Given the description of an element on the screen output the (x, y) to click on. 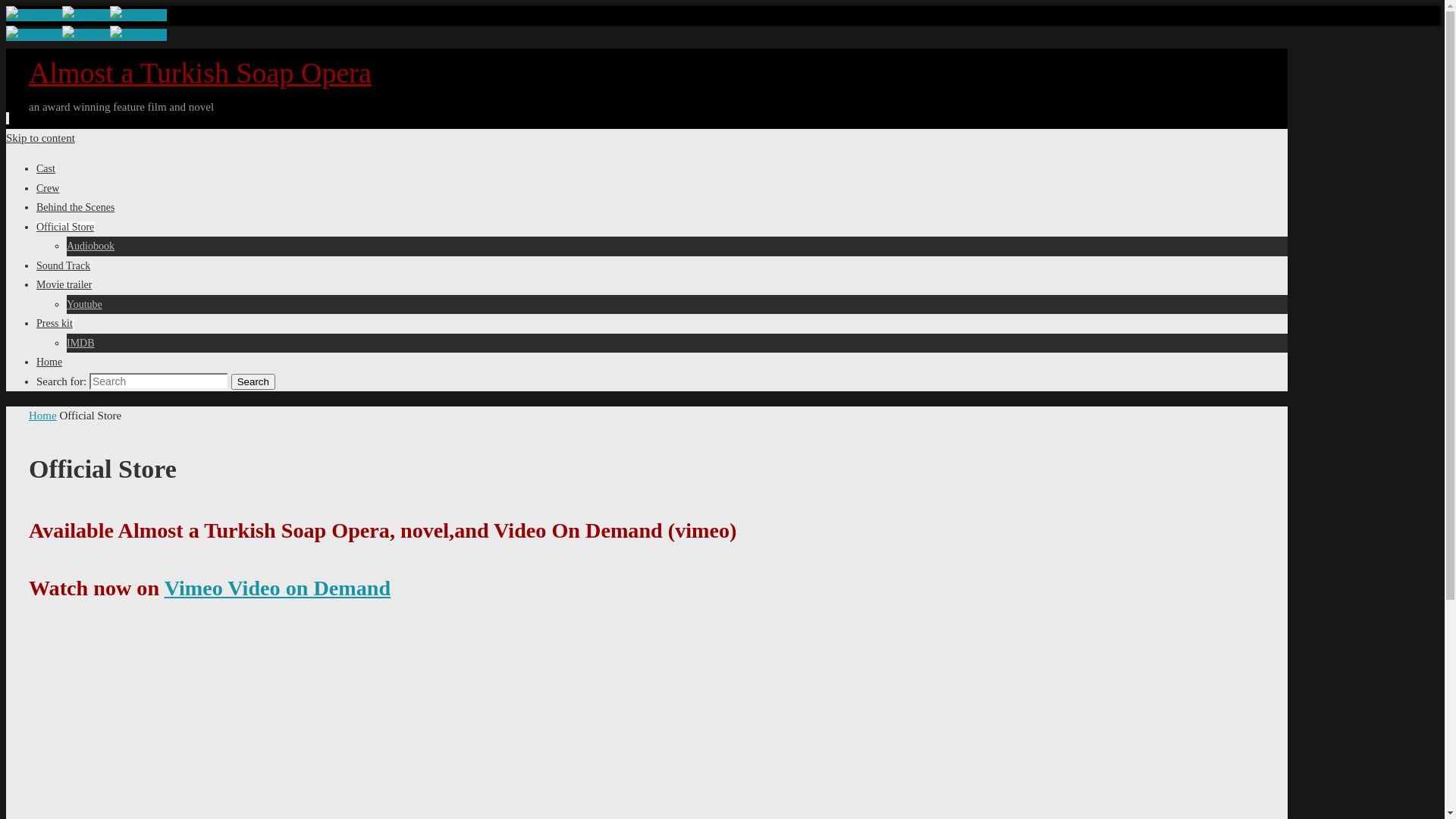
Press kit Element type: text (54, 323)
Youtube Element type: text (84, 304)
Search Element type: text (253, 381)
Cast Element type: text (45, 168)
Tweet Element type: hover (85, 34)
Home Element type: text (49, 361)
Skip to content Element type: text (40, 137)
Audiobook Element type: text (90, 245)
Youtube Element type: hover (34, 34)
Facebook Element type: hover (137, 15)
Almost a Turkish Soap Opera Element type: text (199, 72)
  Element type: text (7, 118)
Tweet Element type: hover (85, 15)
IMDB Element type: text (80, 342)
Youtube Element type: hover (34, 15)
Behind the Scenes Element type: text (75, 207)
Home Element type: text (42, 415)
Official Store Element type: text (65, 226)
Facebook Element type: hover (137, 34)
Vimeo Video on Demand Element type: text (277, 587)
Movie trailer Element type: text (63, 284)
Crew Element type: text (47, 187)
Sound Track Element type: text (63, 264)
